Given the description of an element on the screen output the (x, y) to click on. 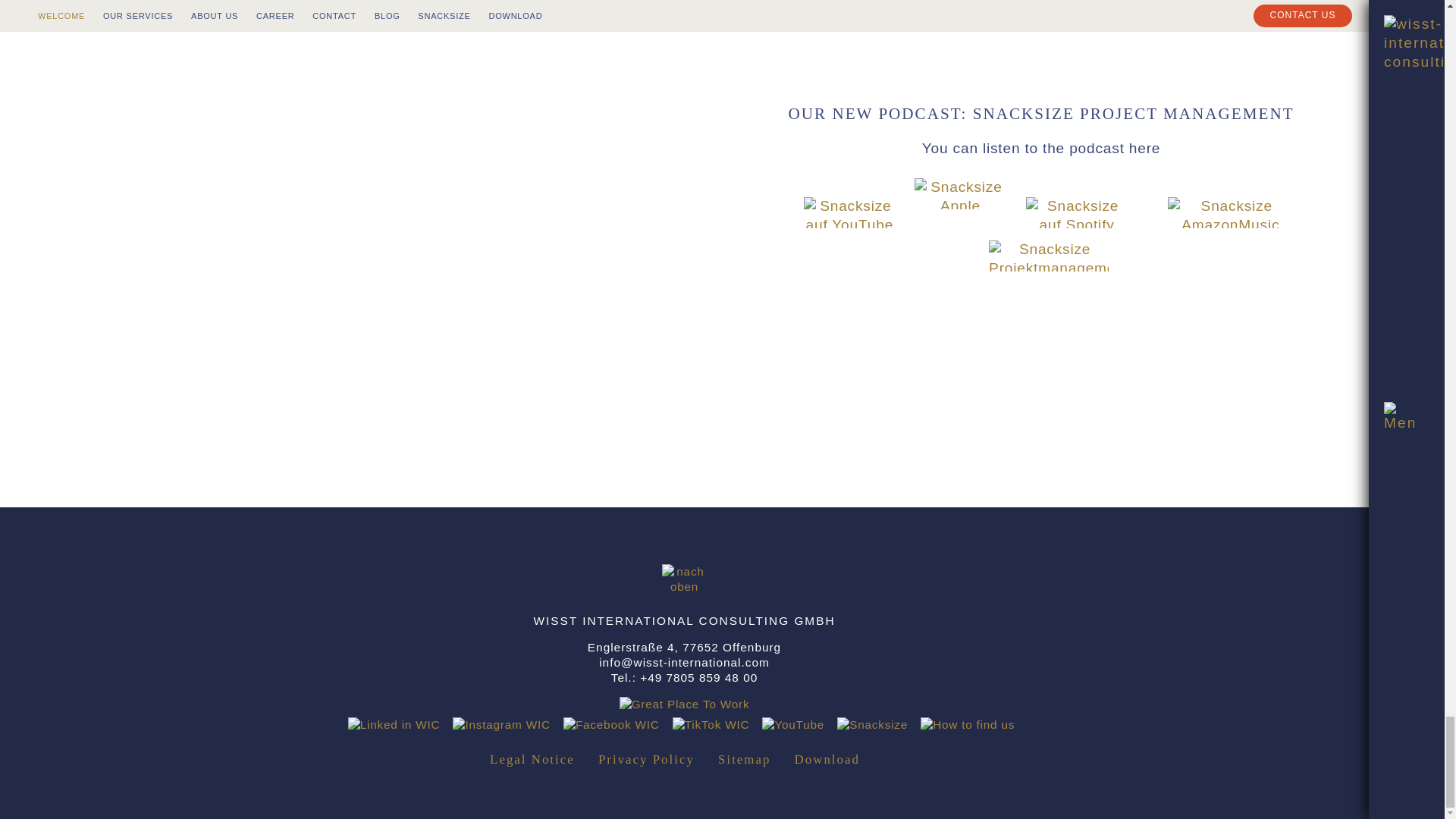
Snacksize Projektmanagement (954, 224)
Snacksize auf YouTube (849, 209)
Wisst International Consulting YouTube (844, 224)
